Given the description of an element on the screen output the (x, y) to click on. 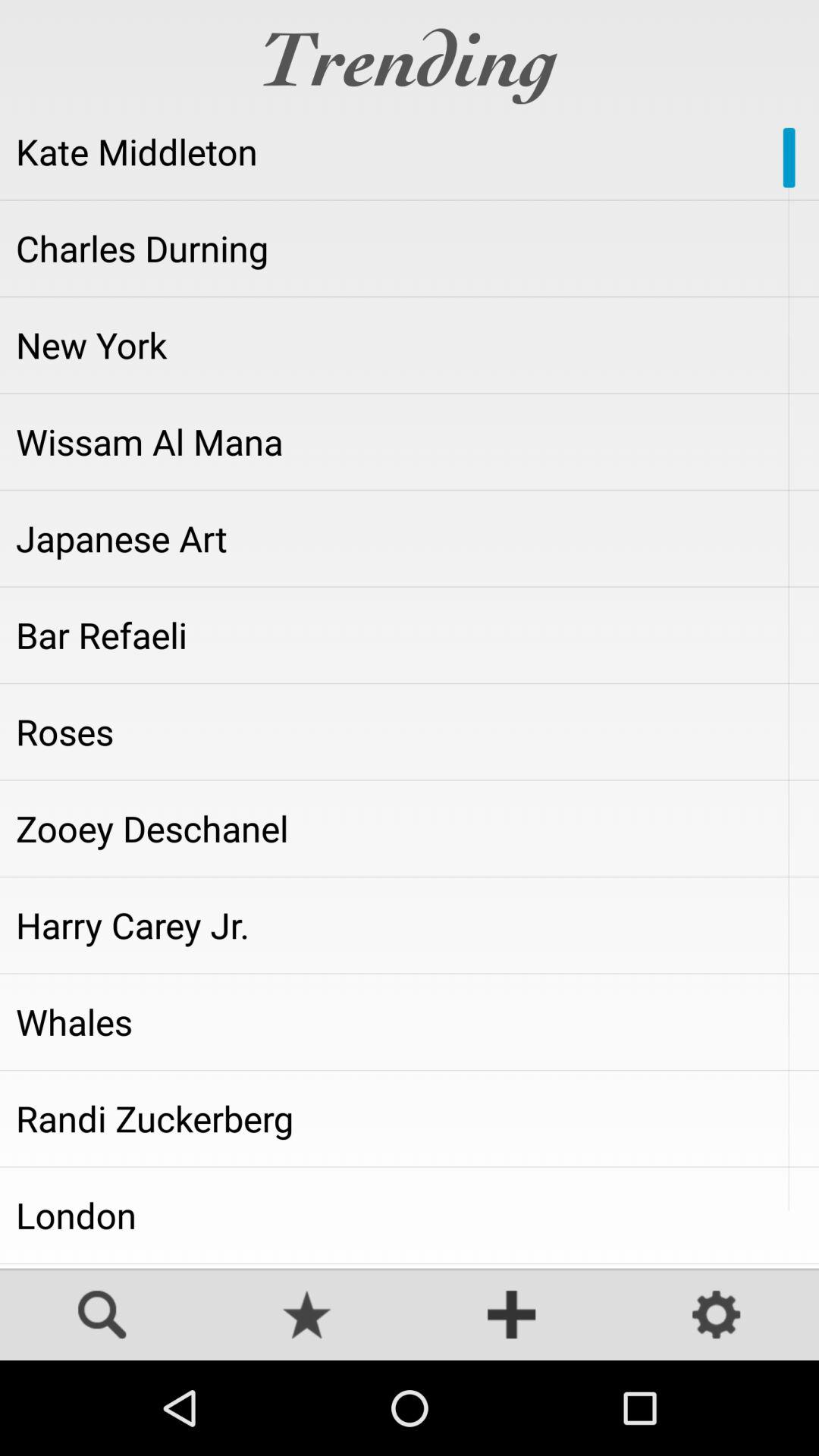
launch icon below the london (409, 1266)
